Given the description of an element on the screen output the (x, y) to click on. 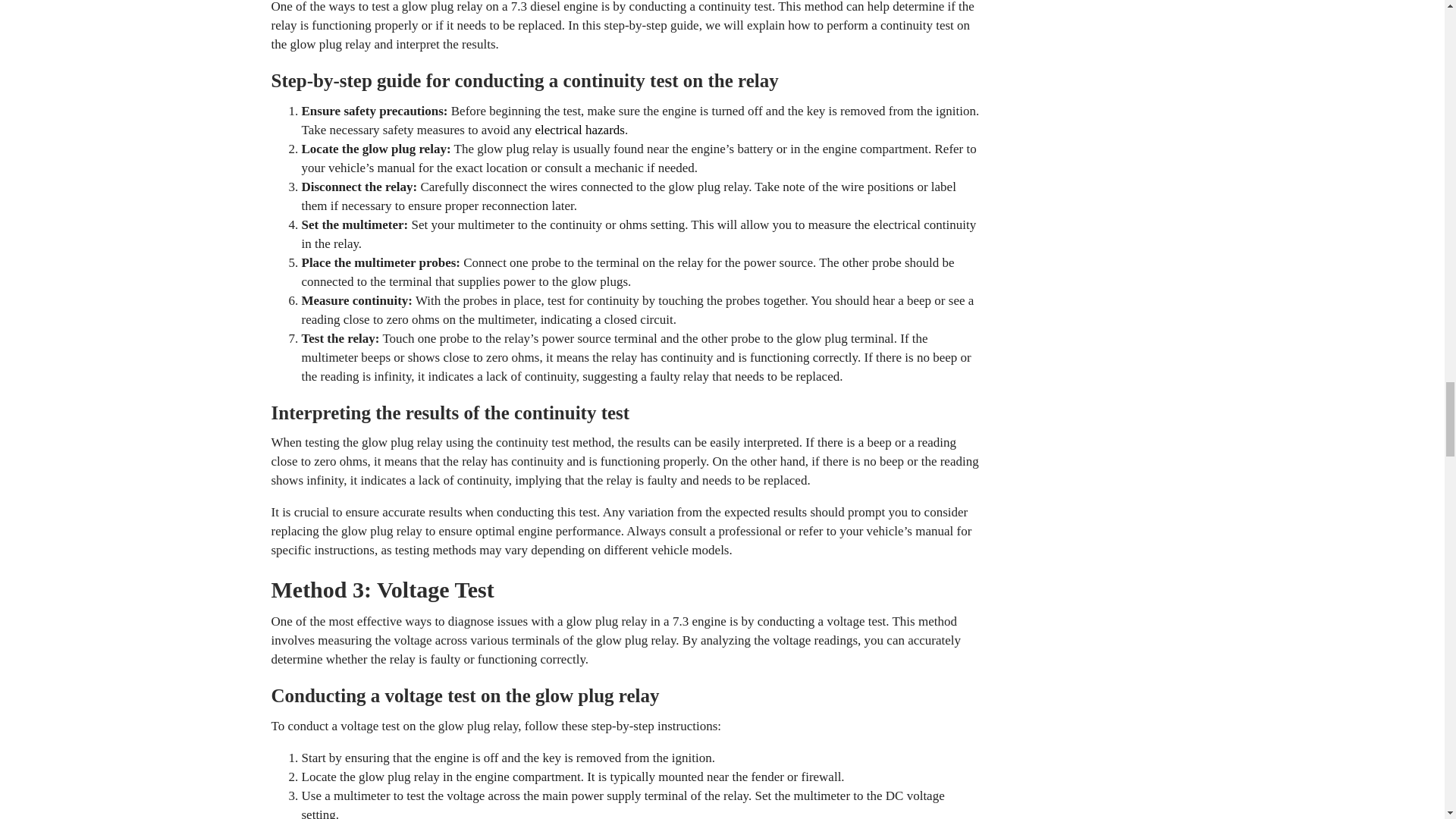
electrical hazards (579, 129)
electrical hazards (579, 129)
